Given the description of an element on the screen output the (x, y) to click on. 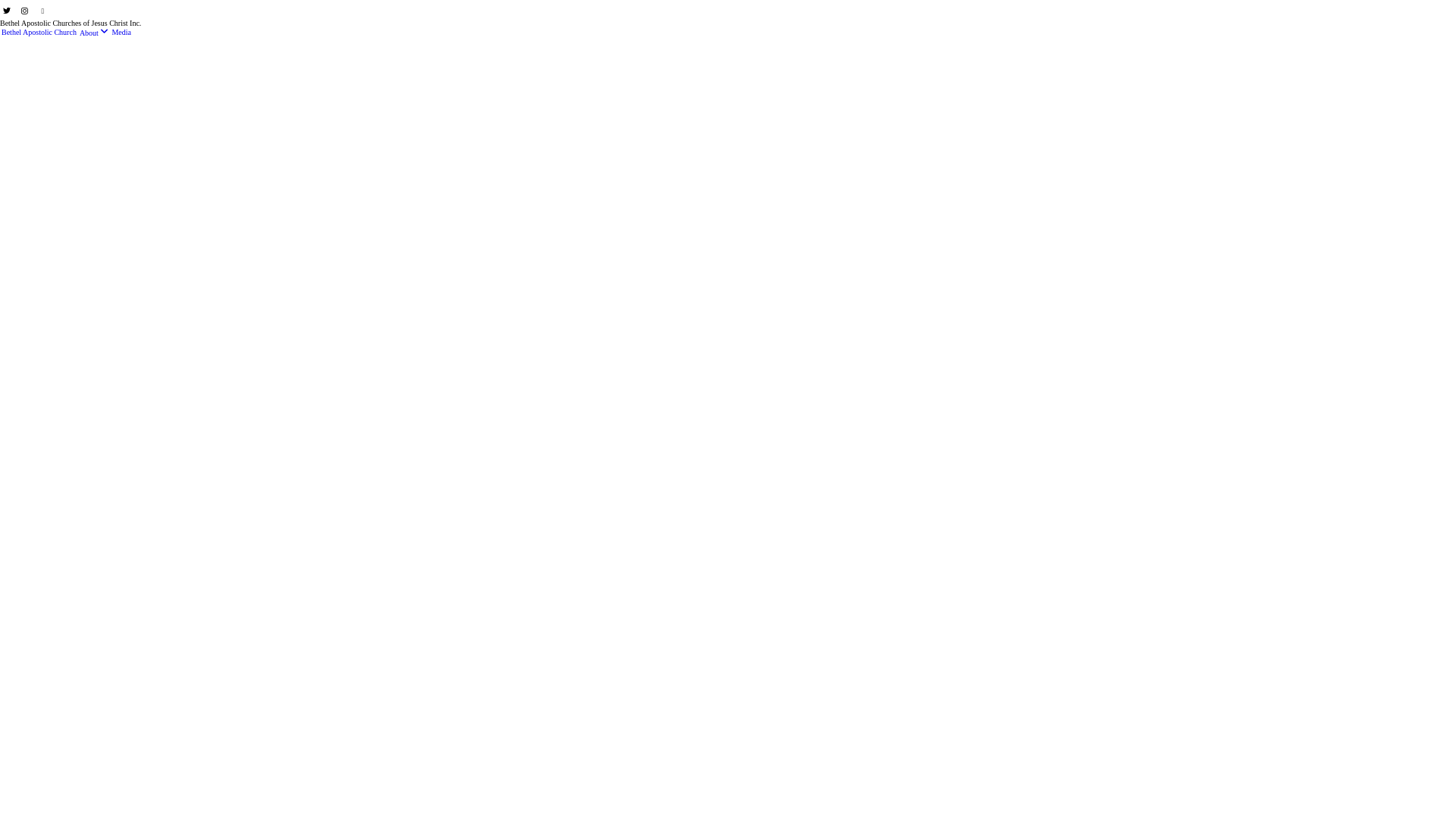
About  Element type: text (94, 32)
Bethel Apostolic Churches of Jesus Christ Inc. Element type: text (70, 22)
Media Element type: text (121, 32)
Bethel Apostolic Church Element type: text (38, 32)
